Given the description of an element on the screen output the (x, y) to click on. 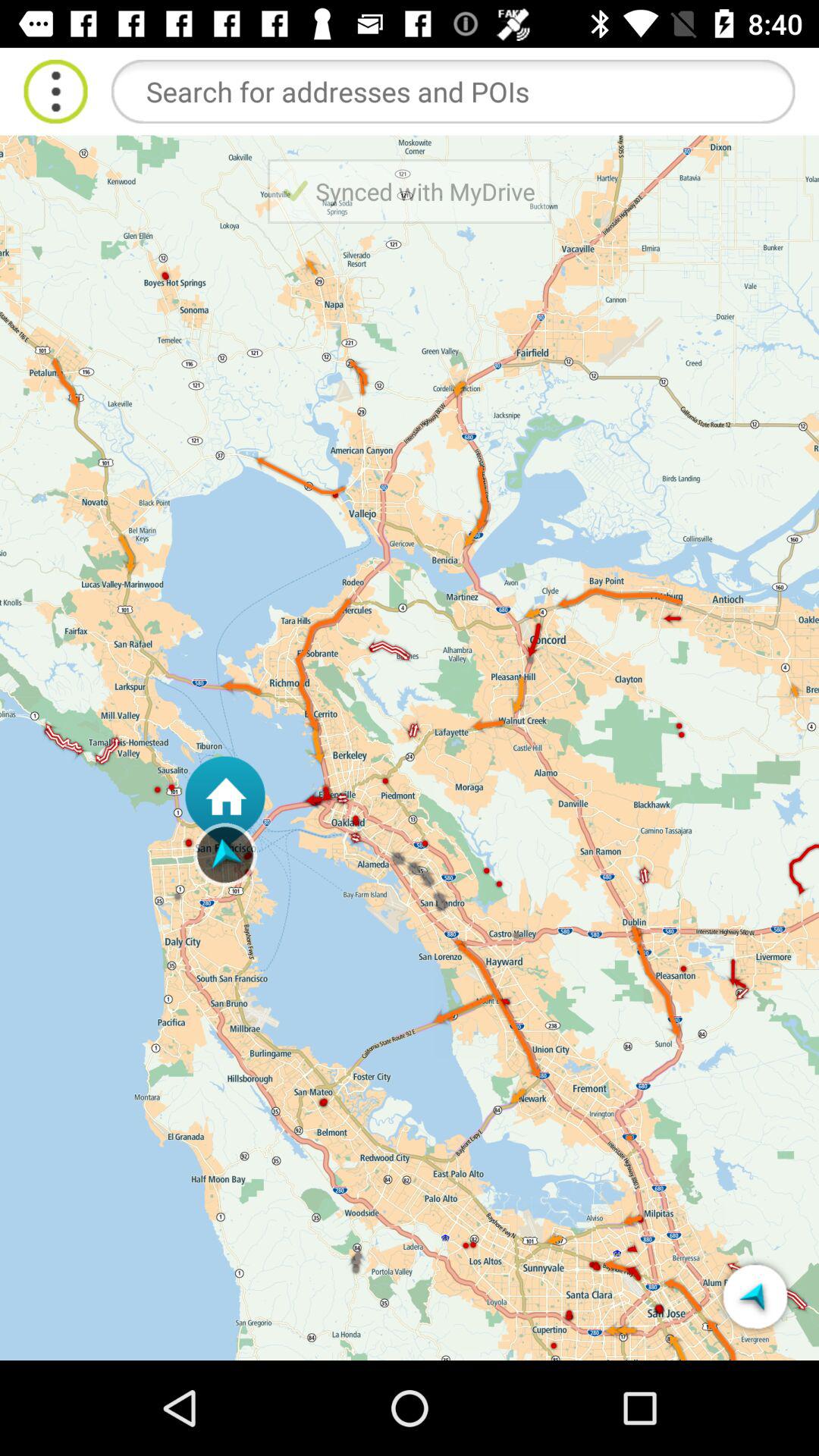
open options (55, 91)
